Given the description of an element on the screen output the (x, y) to click on. 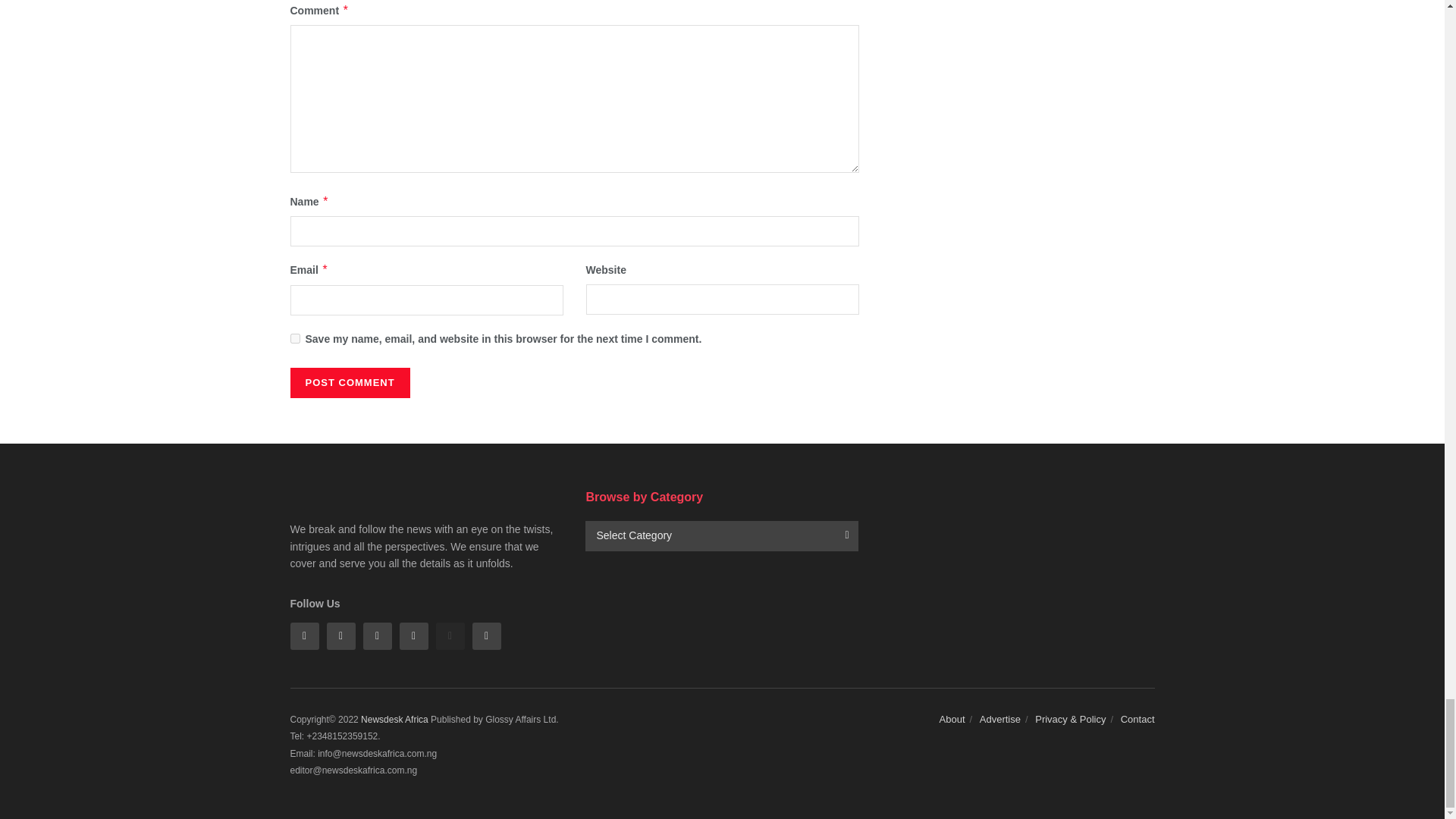
Post Comment (349, 382)
yes (294, 338)
